Given the description of an element on the screen output the (x, y) to click on. 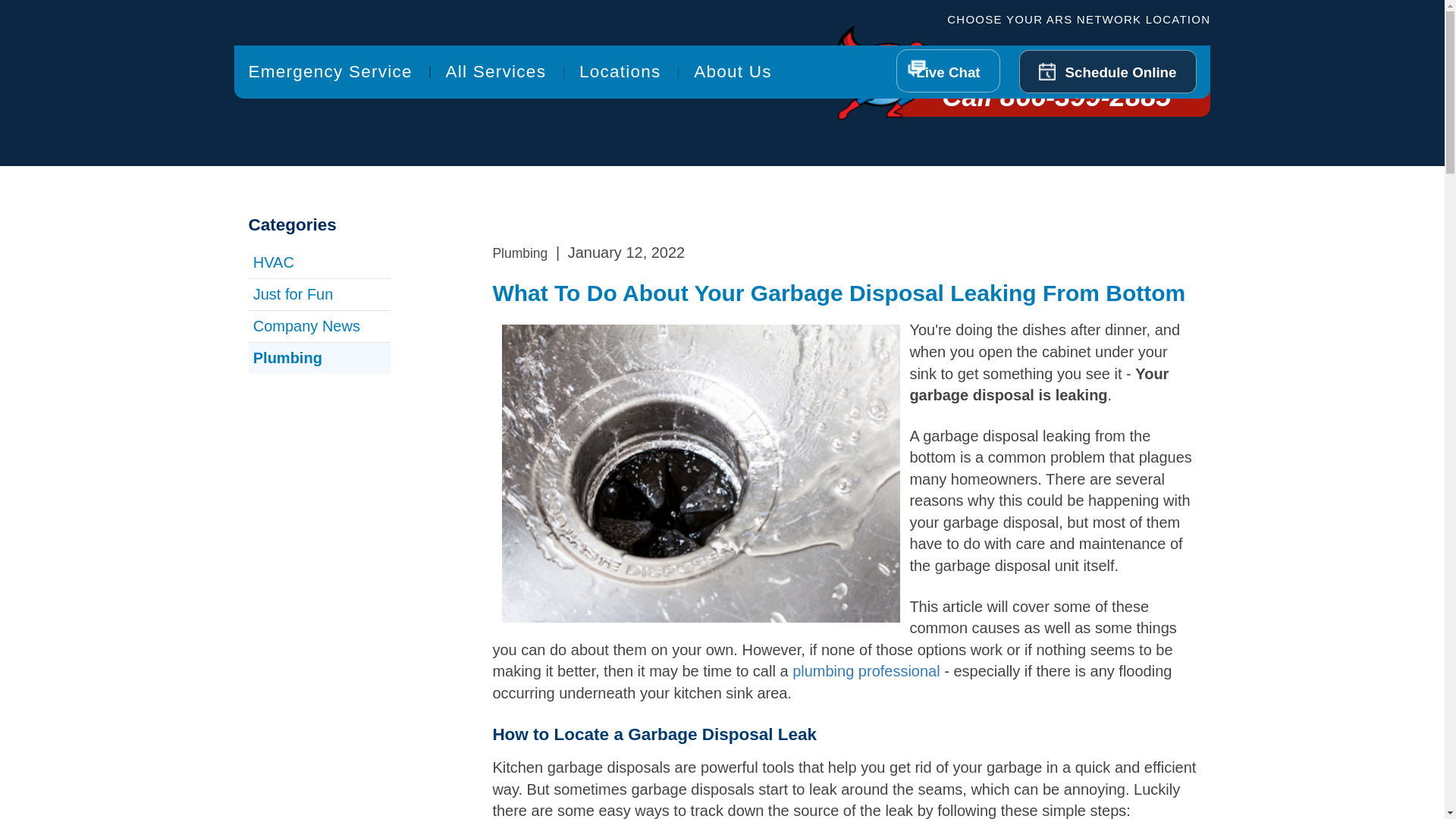
Emergency Service (264, 57)
Call 866-399-2885 (855, 77)
